Given the description of an element on the screen output the (x, y) to click on. 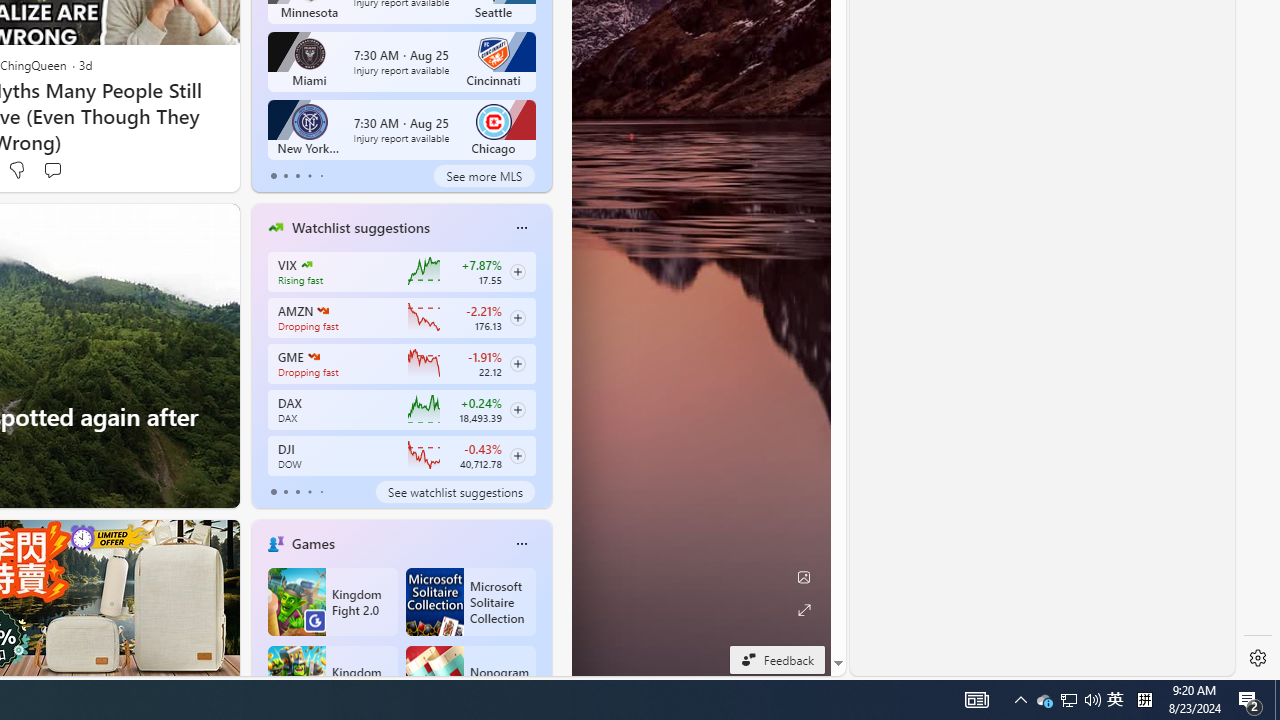
Show desktop (1115, 699)
AutomationID: 4105 (1277, 699)
Kingdom Fight (976, 699)
Kingdom Fight 2.0 (332, 679)
tab-0 (332, 601)
Class: sd-card-game-item-img-inner (273, 491)
Nonogram FRVR (433, 679)
Class: icon-img (470, 679)
CBOE Market Volatility Index (521, 543)
tab-3 (306, 264)
